Given the description of an element on the screen output the (x, y) to click on. 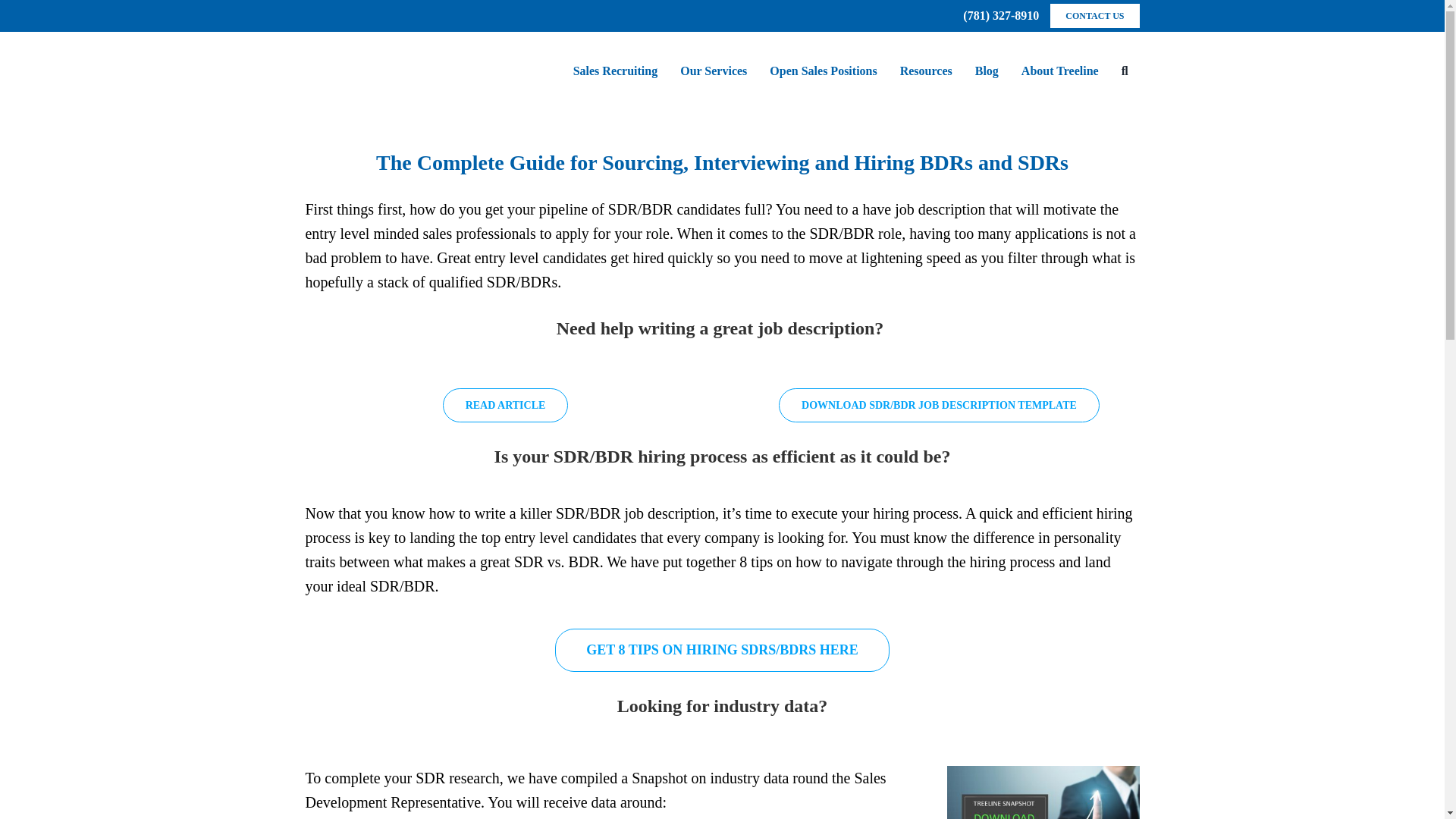
CONTACT US (1093, 15)
Our Recruiting Services (713, 70)
Sales Recruiting (615, 70)
Best Nationwide sales recruiting services (615, 70)
Sales Job Seekers (823, 70)
Blog (986, 70)
About Treeline (1059, 70)
Resources (925, 70)
Sales Recruitment Resources (925, 70)
Meet Our Leadership Team (1059, 70)
Our Services (713, 70)
Open Sales Positions (823, 70)
